Given the description of an element on the screen output the (x, y) to click on. 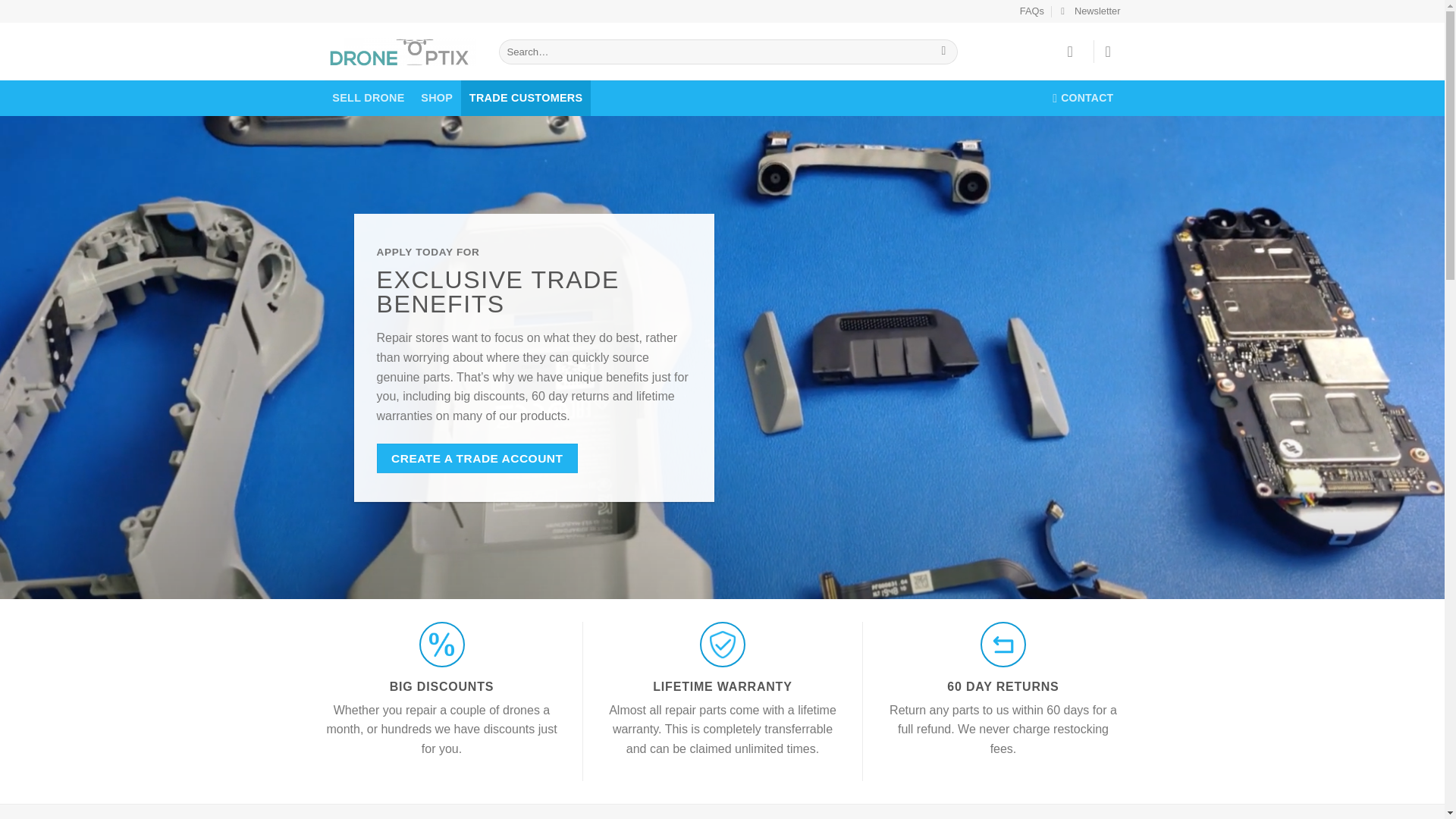
FAQs (1031, 11)
SELL DRONE (368, 98)
Droneoptix Parts - Genuine DJI Drone Parts (400, 51)
CONTACT (1083, 98)
TRADE CUSTOMERS (526, 98)
Sign up for Newsletter (1090, 11)
CREATE A TRADE ACCOUNT (476, 458)
Search (943, 52)
SHOP (436, 98)
Newsletter (1090, 11)
